Given the description of an element on the screen output the (x, y) to click on. 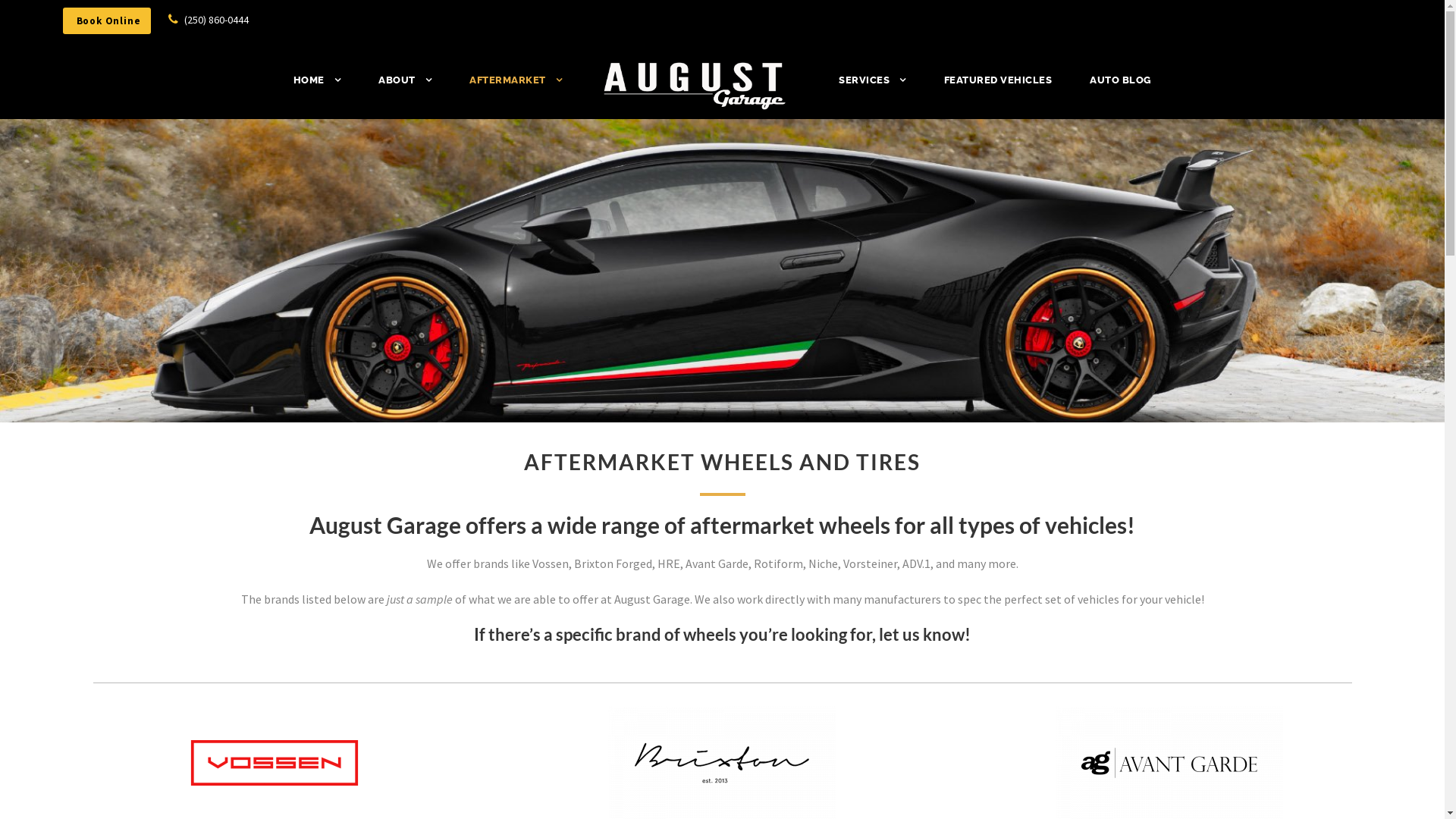
AUTO BLOG Element type: text (1120, 87)
SERVICES Element type: text (872, 87)
Book Online Element type: text (106, 20)
ABOUT Element type: text (404, 87)
FEATURED VEHICLES Element type: text (997, 87)
HOME Element type: text (316, 87)
August Garage Logo White Element type: hover (694, 86)
AFTERMARKET Element type: text (515, 87)
